Given the description of an element on the screen output the (x, y) to click on. 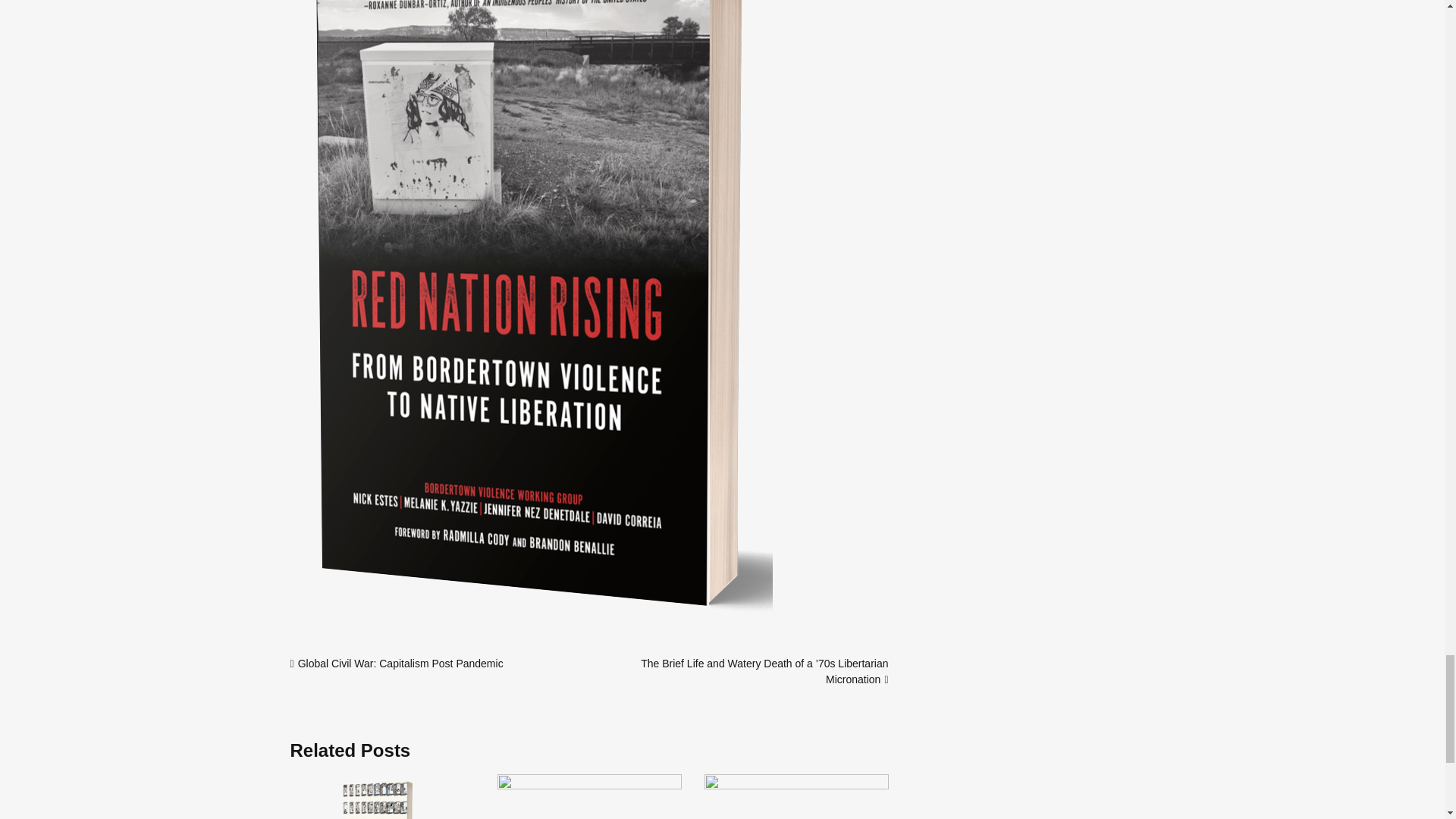
Global Civil War: Capitalism Post Pandemic (400, 663)
